Given the description of an element on the screen output the (x, y) to click on. 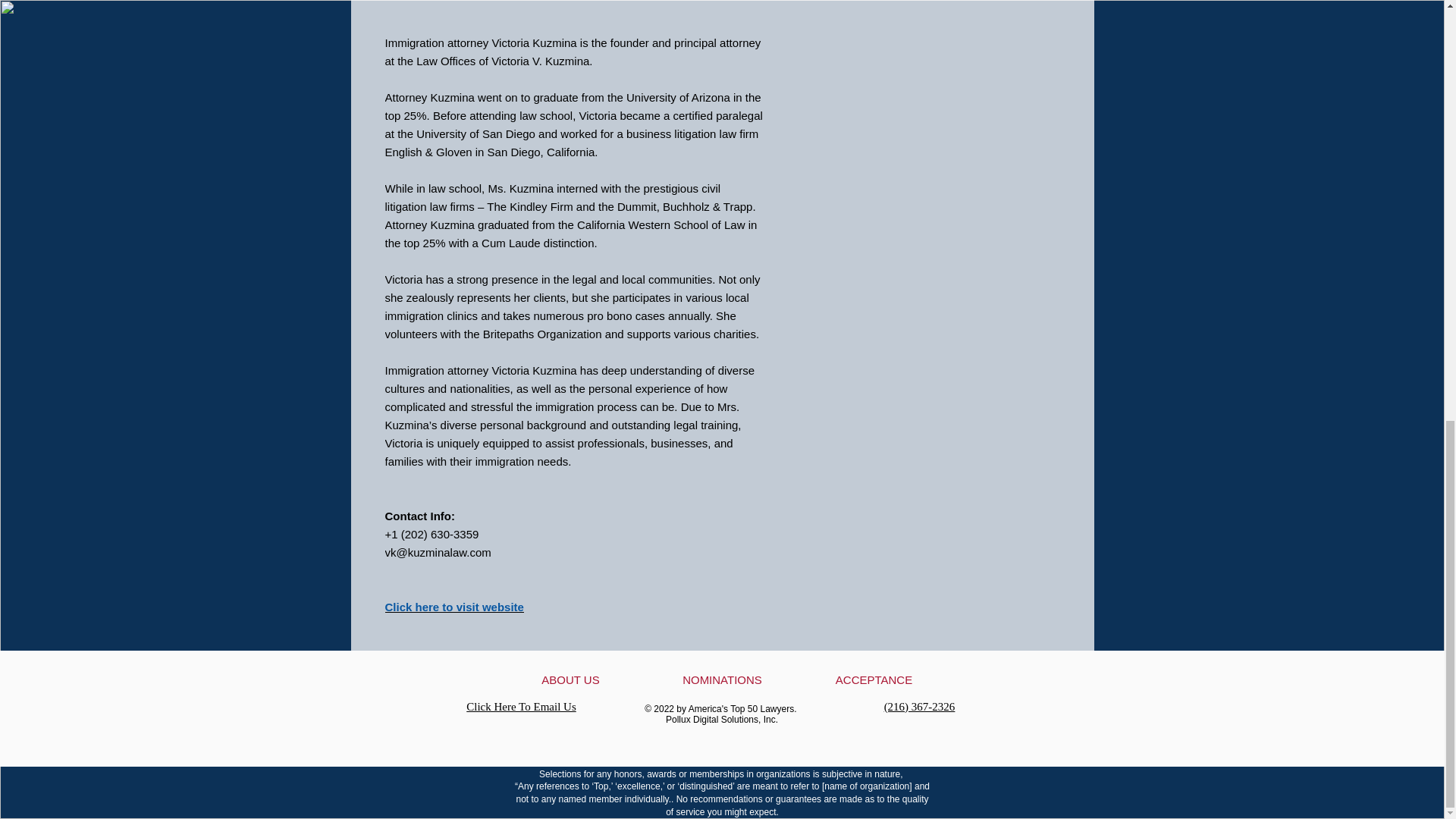
NOMINATIONS (721, 679)
Click here to visit website (454, 606)
ACCEPTANCE (873, 679)
ABOUT US (570, 679)
Click Here To Email Us (520, 706)
